Given the description of an element on the screen output the (x, y) to click on. 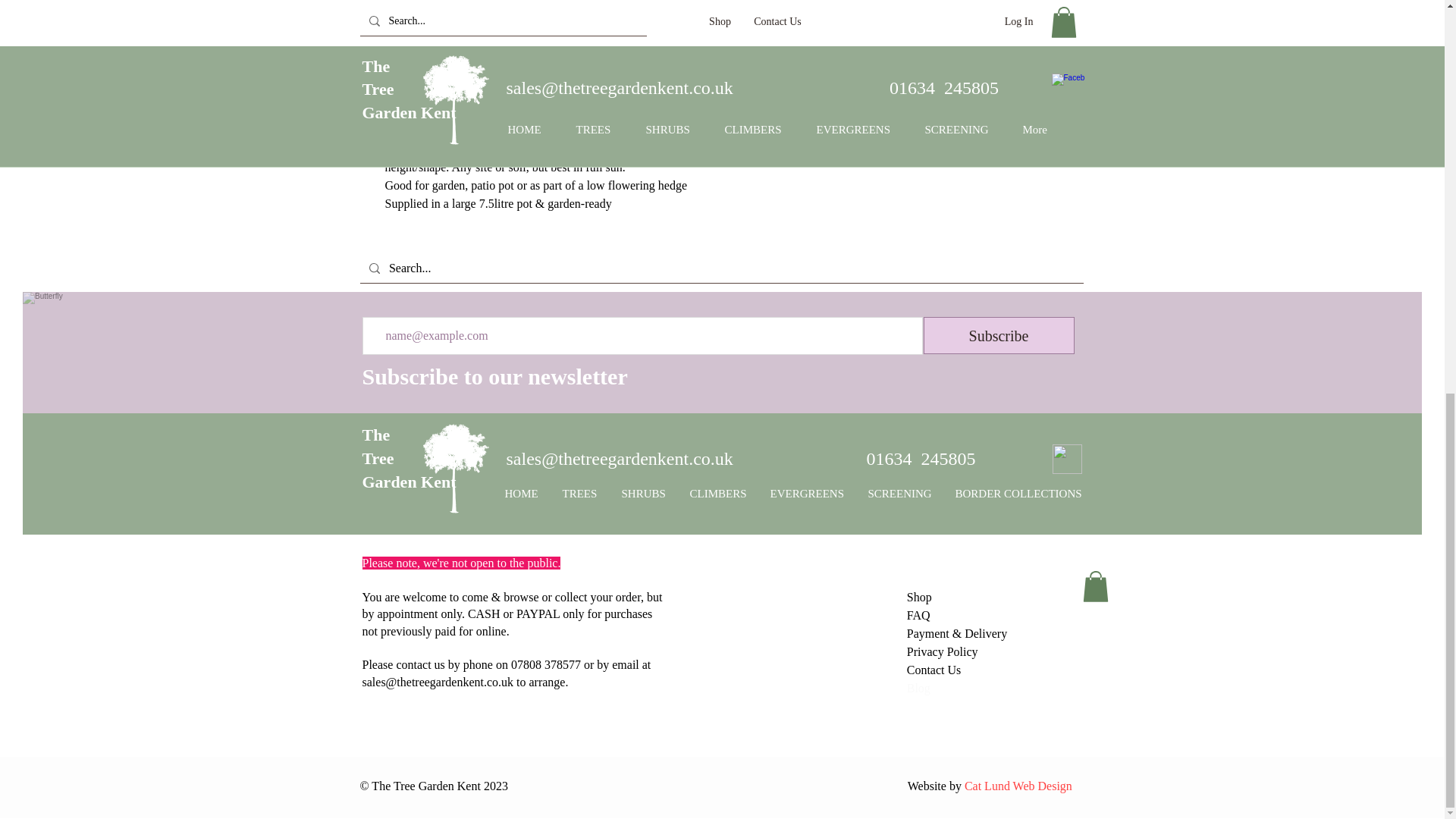
TREES (580, 493)
SHRUBS (644, 493)
HOME (521, 493)
01634  245805 (920, 458)
BORDER COLLECTIONS (1018, 493)
SCREENING (900, 493)
CLIMBERS (718, 493)
Subscribe (998, 334)
EVERGREENS (807, 493)
